Given the description of an element on the screen output the (x, y) to click on. 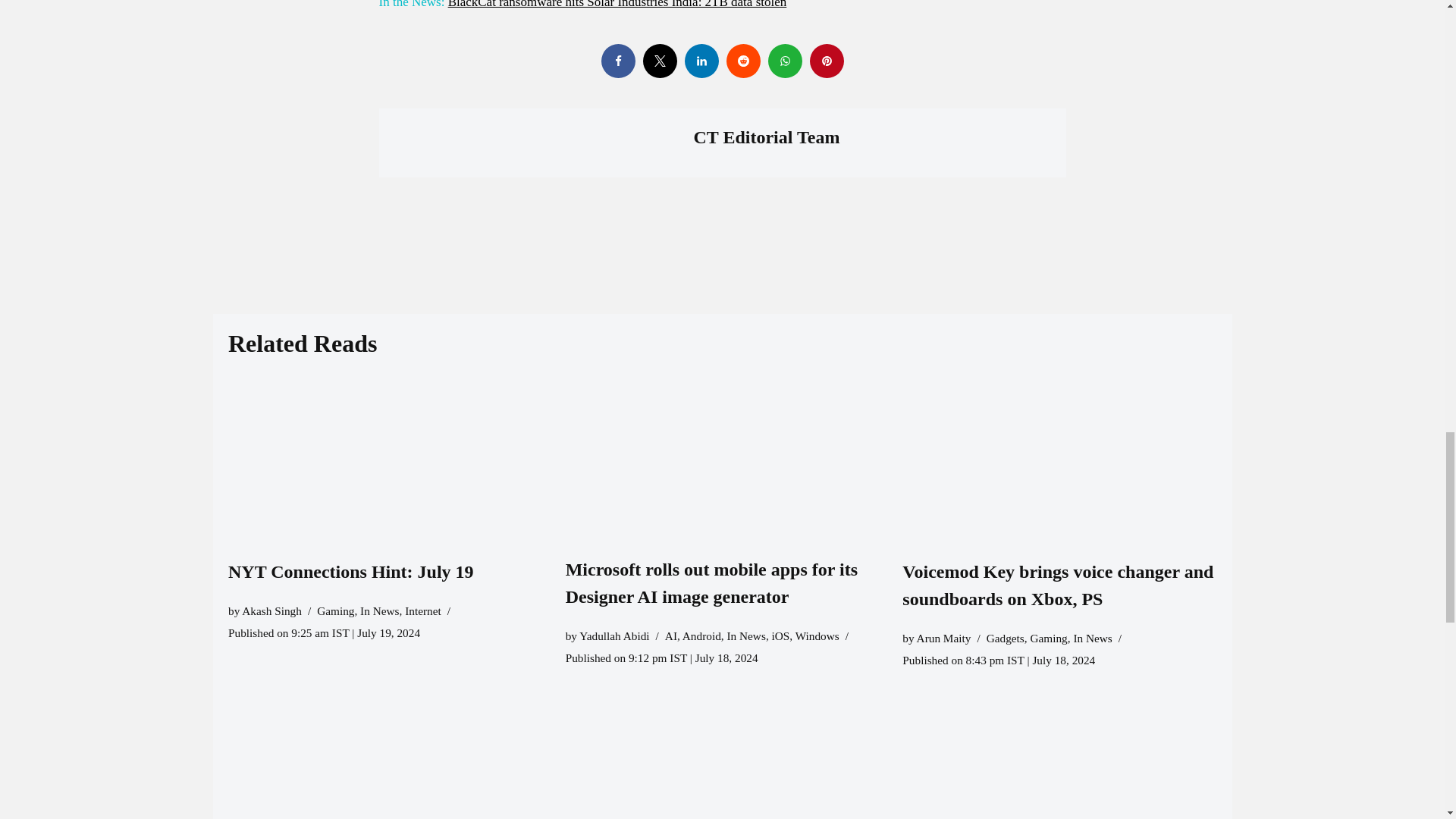
Linkedin (700, 60)
Reddit (743, 60)
Twitter (660, 60)
Facebook (616, 60)
